Given the description of an element on the screen output the (x, y) to click on. 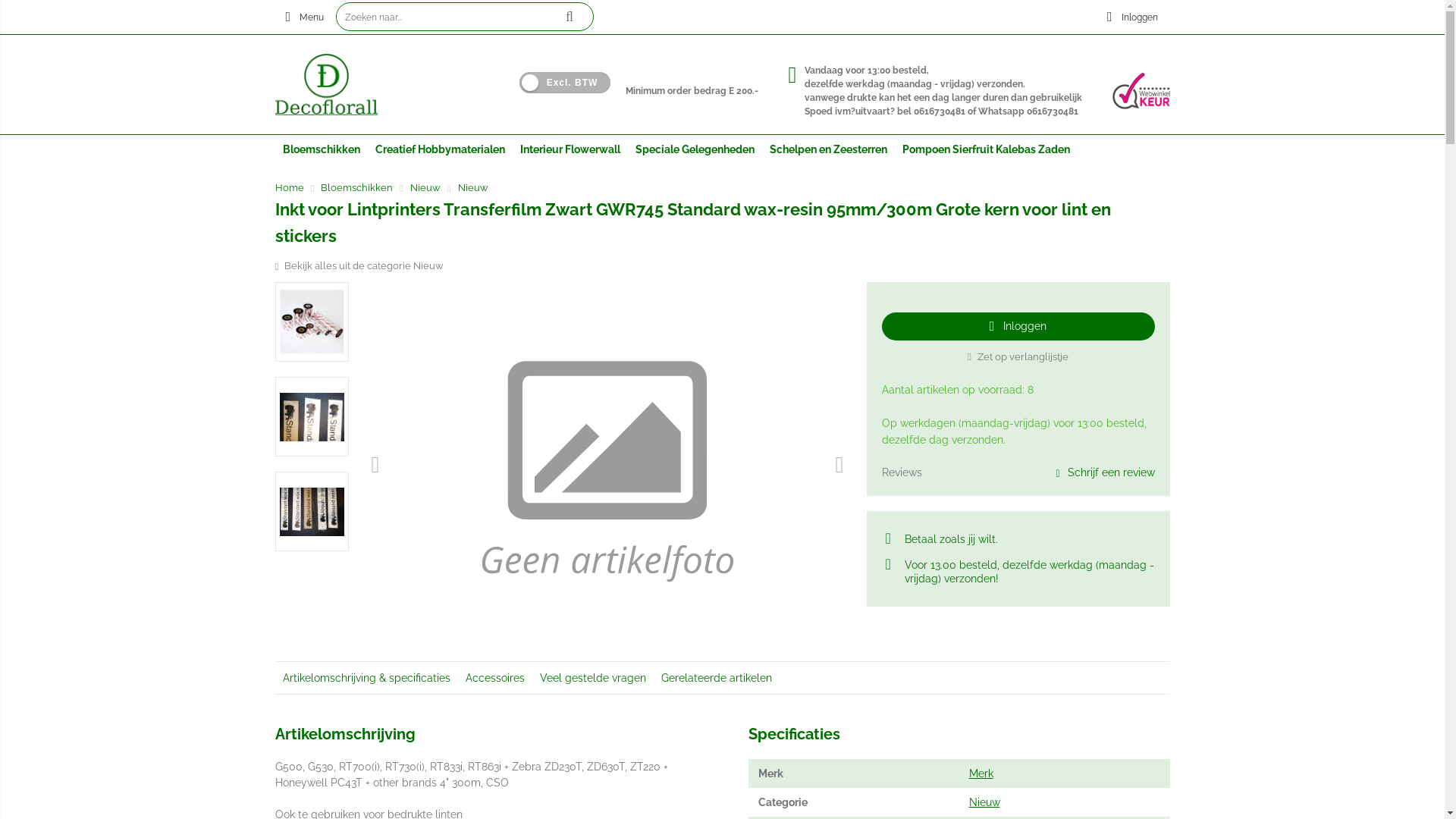
Interieur Flowerwall Element type: text (569, 148)
Schelpen en Zeesterren Element type: text (827, 148)
Nieuw Element type: text (473, 187)
Schrijf een review Element type: text (1104, 472)
Veel gestelde vragen Element type: text (592, 677)
Nieuw Element type: text (984, 802)
Pompoen Sierfruit Kalebas Zaden Element type: text (985, 148)
Inloggen Element type: text (1017, 326)
Bekijk alles uit de categorie Nieuw Element type: text (358, 265)
Accessoires Element type: text (494, 677)
Nieuw Element type: text (425, 187)
Creatief Hobbymaterialen Element type: text (439, 148)
Merk Element type: text (981, 773)
Bloemschikken Element type: text (320, 148)
Speciale Gelegenheden Element type: text (694, 148)
Zet op verlanglijstje Element type: text (1017, 356)
Home Element type: text (288, 187)
Gerelateerde artikelen Element type: text (716, 677)
Bloemschikken Element type: text (356, 187)
Artikelomschrijving & specificaties Element type: text (365, 677)
